Given the description of an element on the screen output the (x, y) to click on. 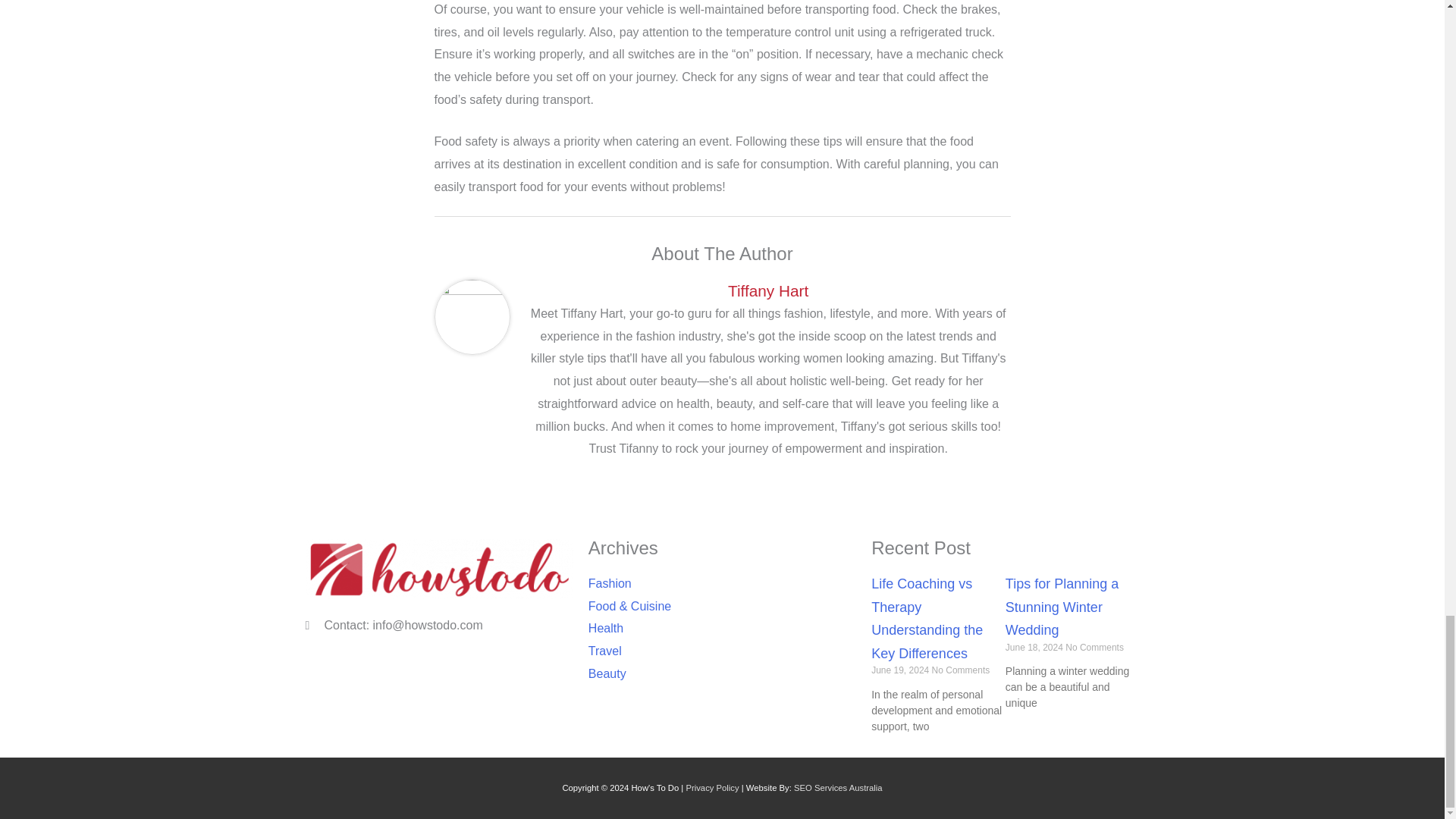
Tiffany Hart (767, 290)
Health (722, 628)
SEO Services Australia (837, 787)
Privacy Policy (711, 787)
Fashion (722, 583)
Travel (722, 650)
Life Coaching vs Therapy Understanding the Key Differences (926, 618)
Tips for Planning a Stunning Winter Wedding (1062, 607)
Beauty (722, 673)
